Given the description of an element on the screen output the (x, y) to click on. 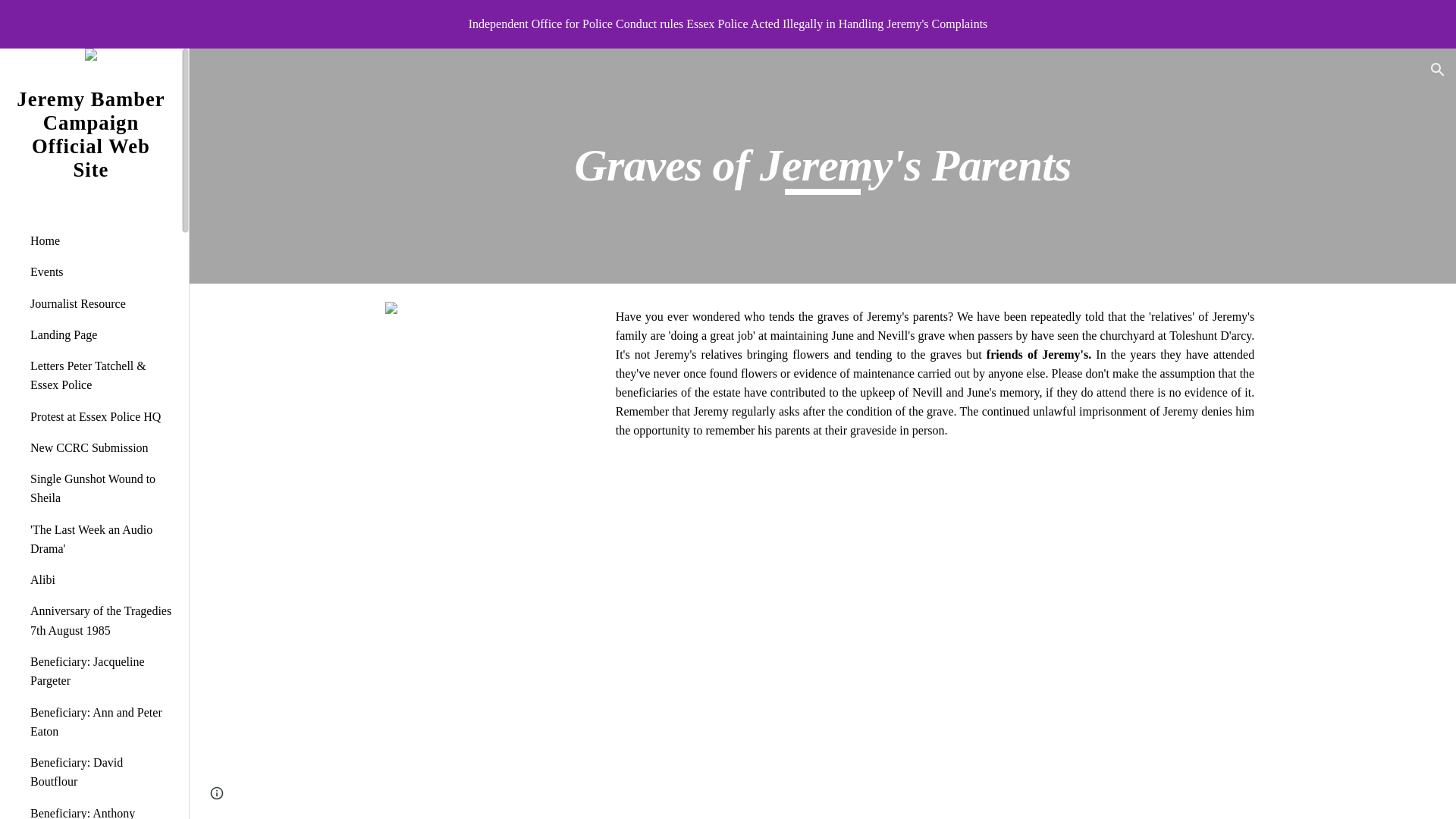
Beneficiary: Ann and Peter Eaton (100, 721)
Home (100, 240)
Single Gunshot Wound to Sheila (100, 488)
Jeremy Bamber Campaign Official Web Site (91, 153)
Journalist Resource (100, 303)
Protest at Essex Police HQ (100, 416)
'The Last Week an Audio Drama' (100, 539)
Beneficiary: Jacqueline Pargeter (100, 671)
Events (100, 271)
New CCRC Submission (100, 447)
Anniversary of the Tragedies 7th August 1985 (100, 620)
Beneficiary: David Boutflour (100, 771)
Landing Page (100, 334)
Alibi (100, 579)
